Given the description of an element on the screen output the (x, y) to click on. 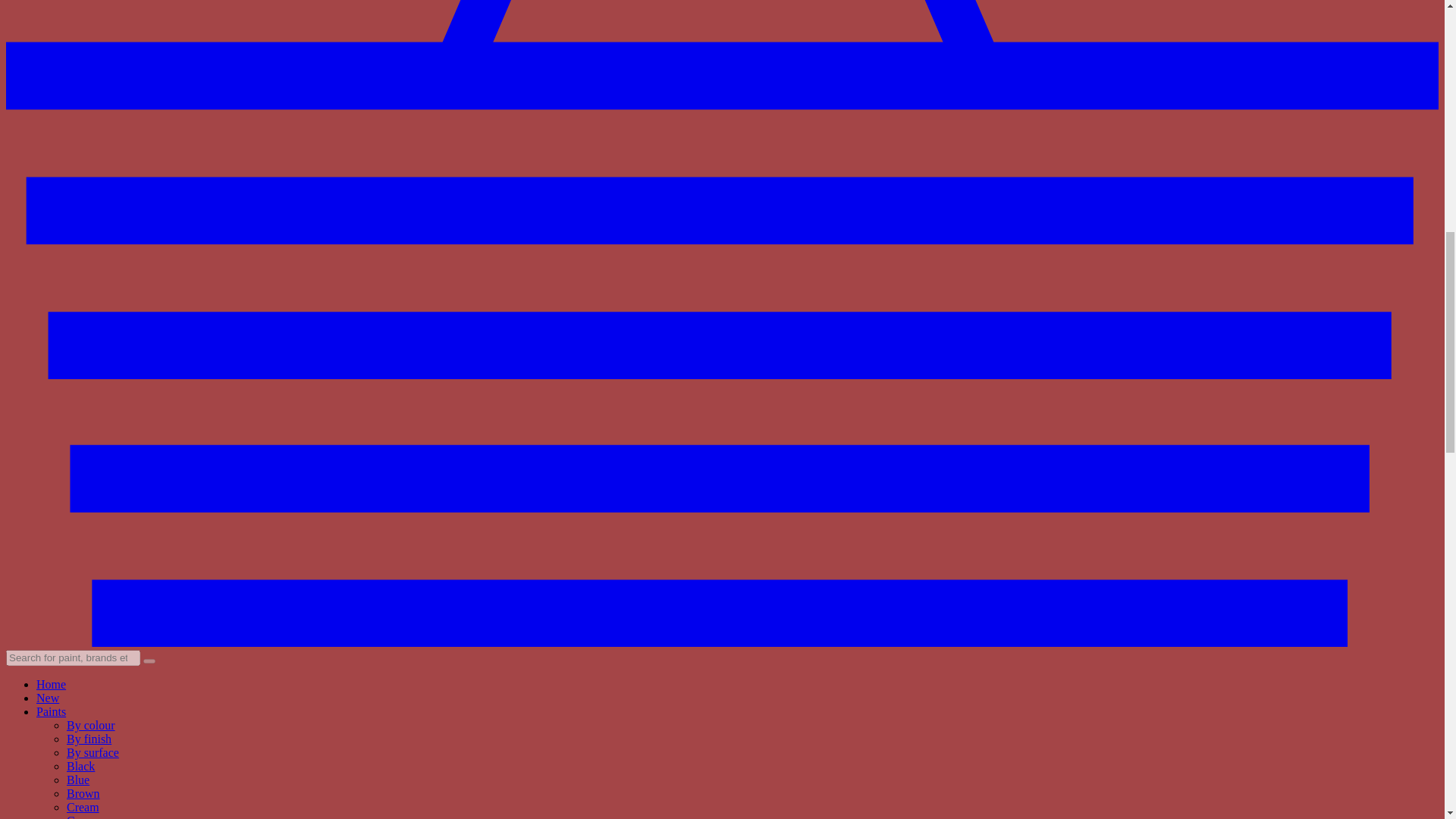
Brown (83, 793)
By colour (90, 725)
By surface (92, 752)
Blue (77, 779)
Paints (50, 711)
Black (80, 766)
Home (50, 684)
By finish (89, 738)
Cream (82, 807)
Green (81, 816)
New (47, 697)
